Given the description of an element on the screen output the (x, y) to click on. 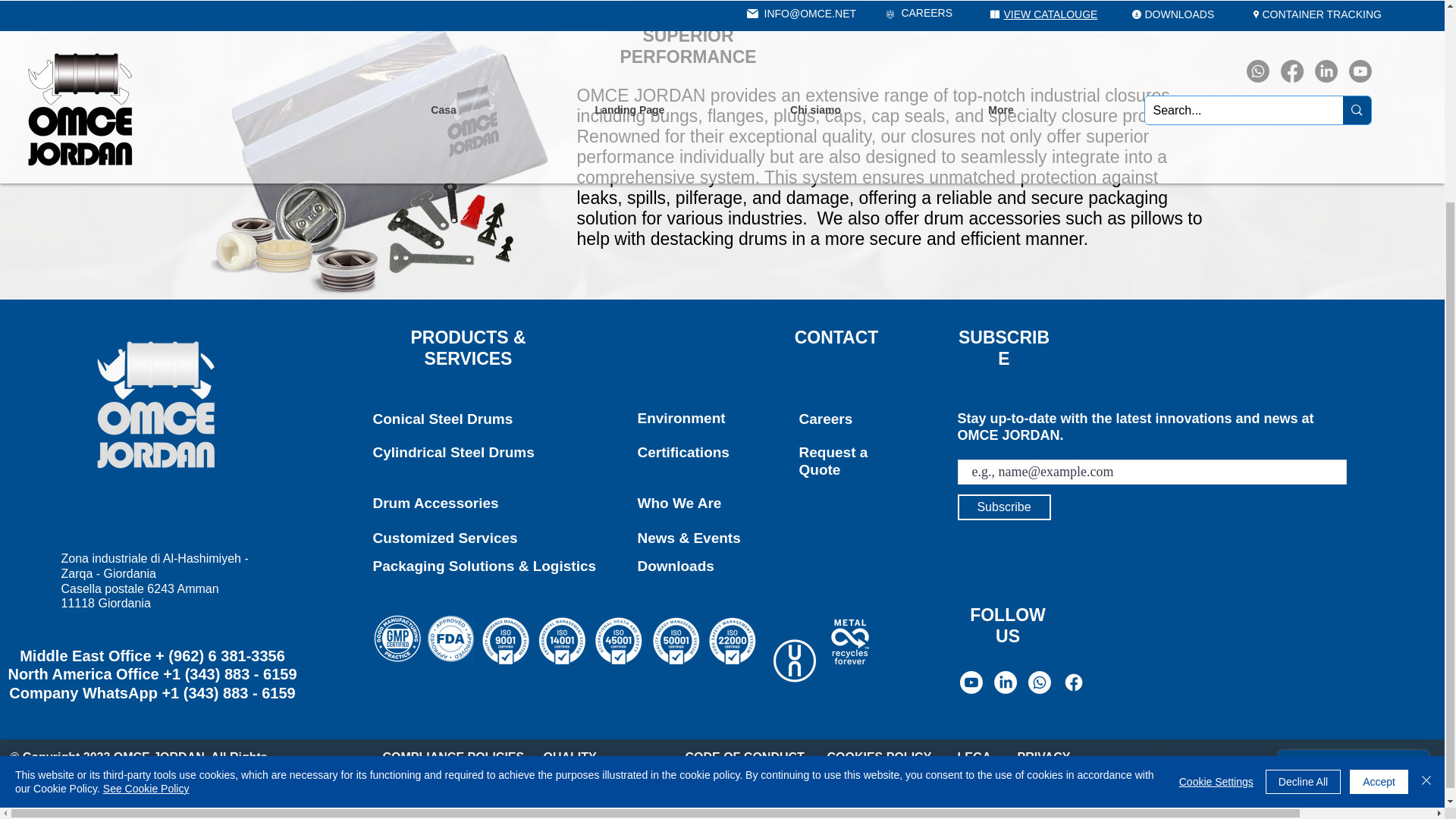
Drum Accessories (435, 503)
Request a Quote (833, 460)
Cylindrical Steel Drums (453, 452)
Wix Chat (1356, 511)
Environment (681, 417)
Conical Steel Drums (442, 418)
Careers (826, 418)
